Given the description of an element on the screen output the (x, y) to click on. 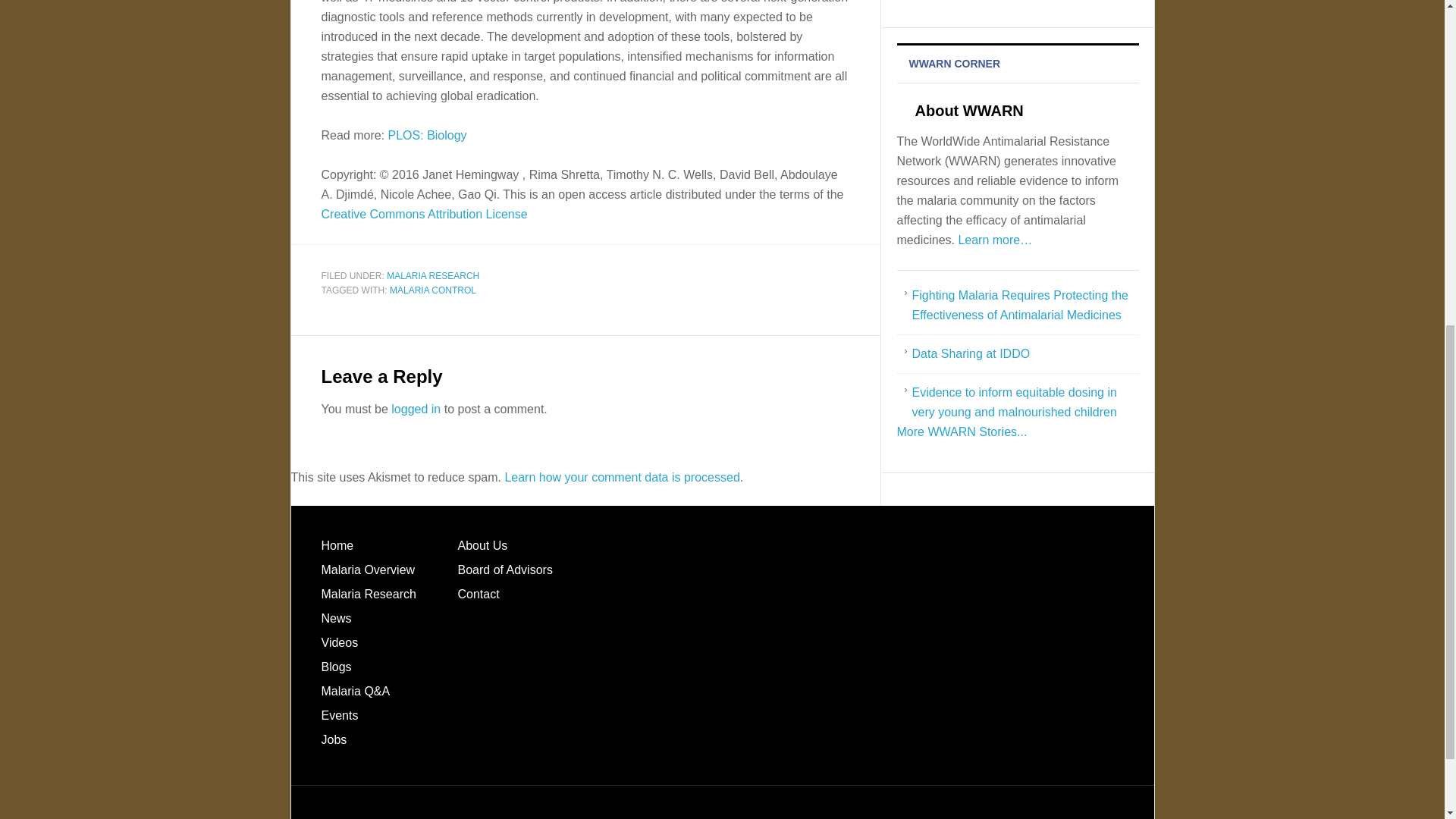
WWARN (961, 431)
PLOS: Biology (427, 134)
Malaria Research (368, 594)
Malaria Overview (367, 569)
More WWARN Stories... (961, 431)
Home (337, 545)
Events (339, 715)
Videos (339, 642)
MALARIA CONTROL (433, 290)
